Given the description of an element on the screen output the (x, y) to click on. 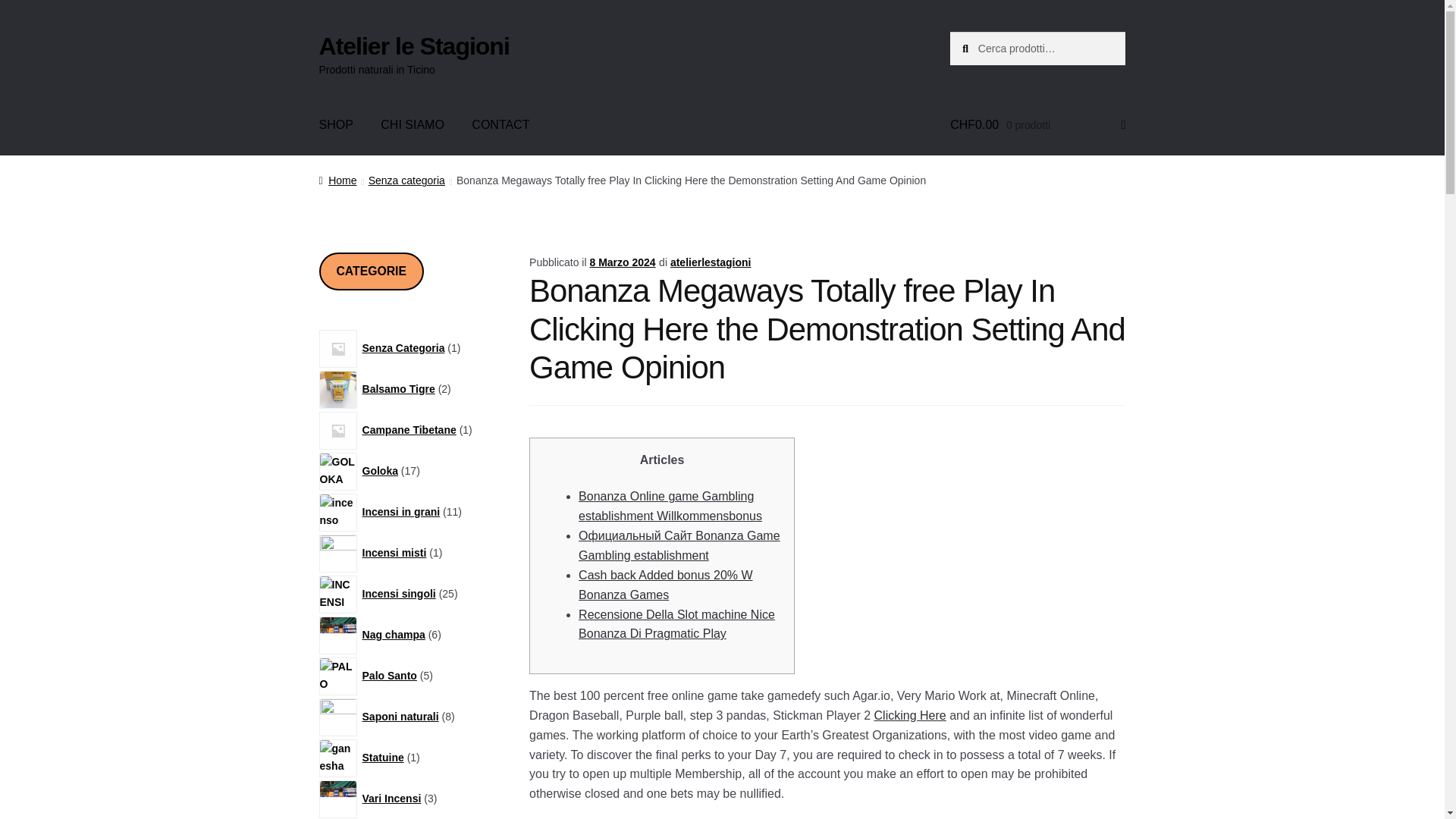
Saponi naturali (402, 716)
Incensi in grani (403, 511)
Palo Santo (390, 675)
Balsamo Tigre (400, 388)
CONTACT (500, 124)
Home (337, 180)
Senza Categoria (405, 347)
CHF0.00 0 prodotti (1037, 124)
CATEGORIE (370, 271)
Senza categoria (406, 180)
CHI SIAMO (412, 124)
Recensione Della Slot machine Nice Bonanza Di Pragmatic Play (676, 624)
Bonanza Online game Gambling establishment Willkommensbonus (669, 505)
8 Marzo 2024 (622, 262)
